Given the description of an element on the screen output the (x, y) to click on. 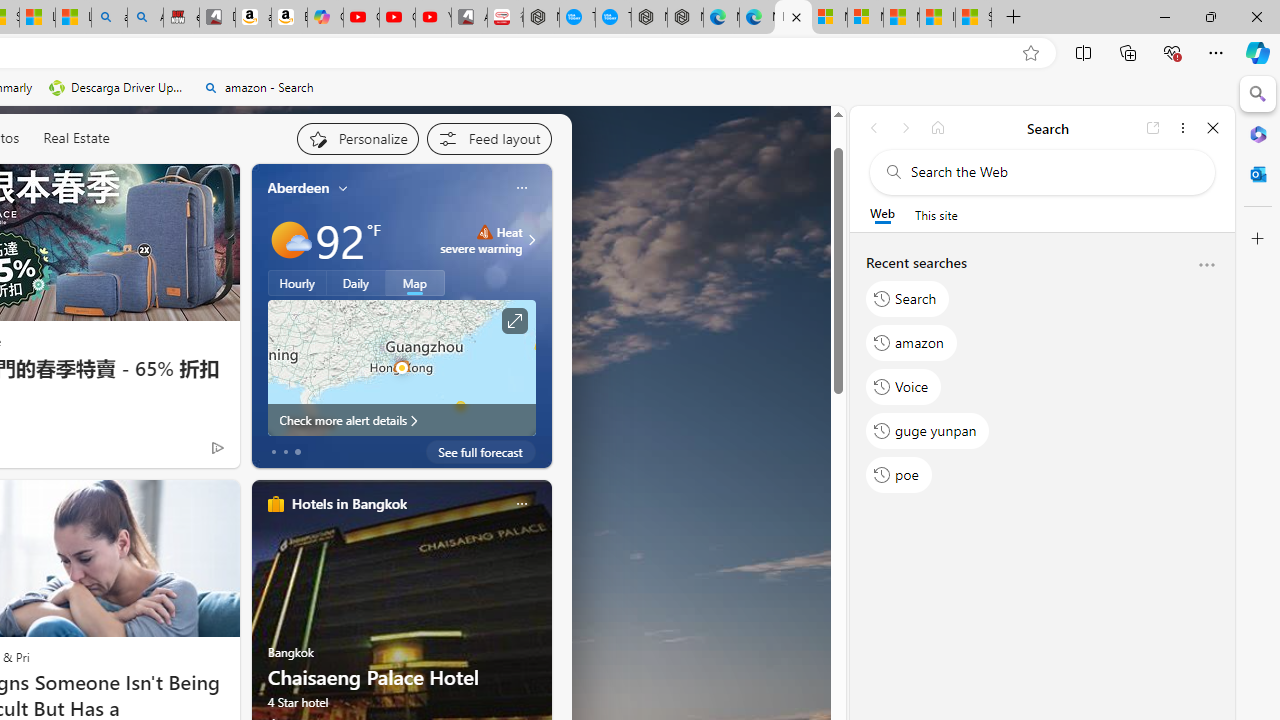
Check more alert details (401, 419)
My location (343, 187)
Nordace - My Account (541, 17)
Class: weather-arrow-glyph (531, 240)
Larger map  (401, 368)
